Given the description of an element on the screen output the (x, y) to click on. 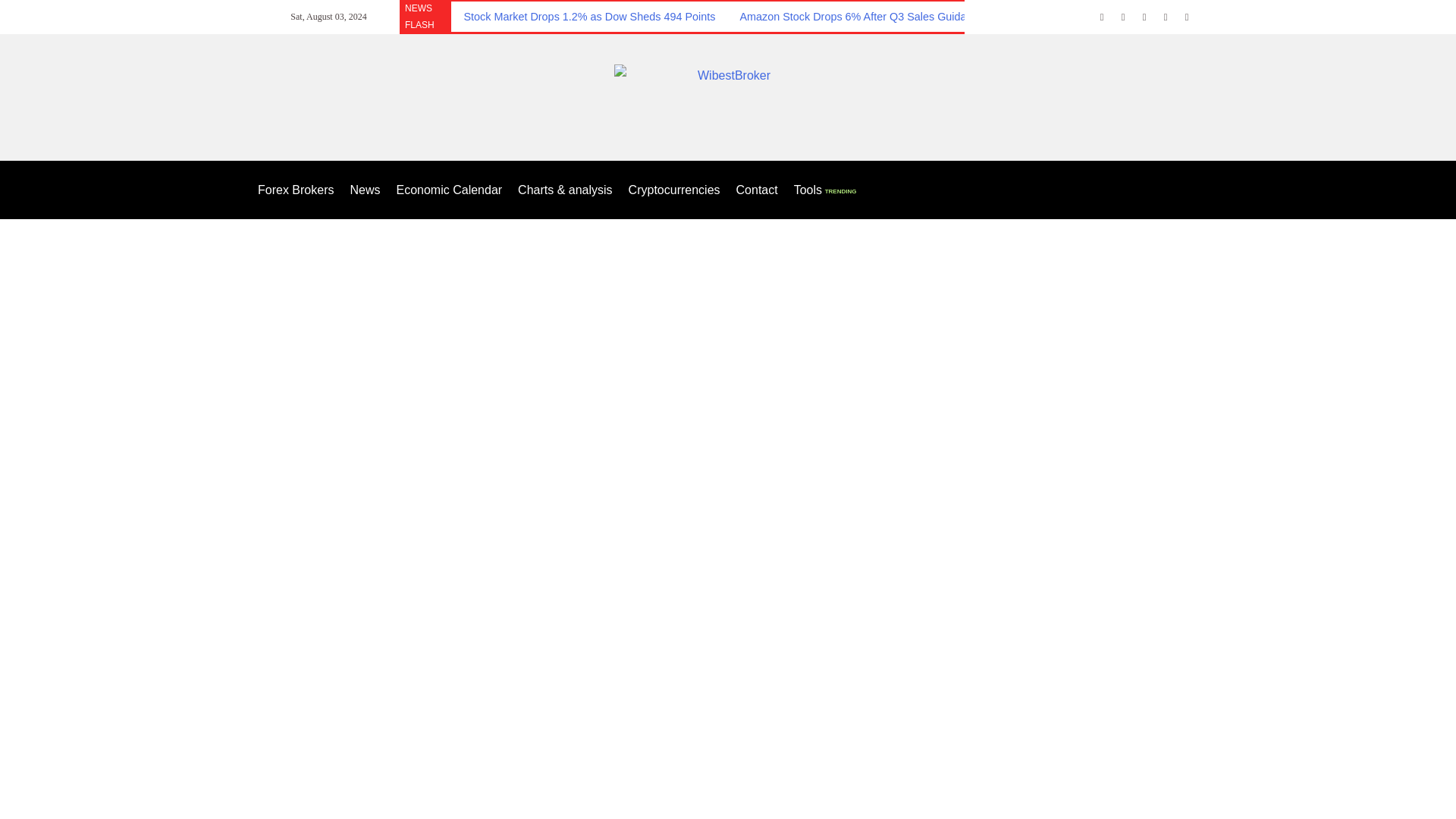
Economic Calendar (449, 189)
Forex Brokers (295, 189)
